Given the description of an element on the screen output the (x, y) to click on. 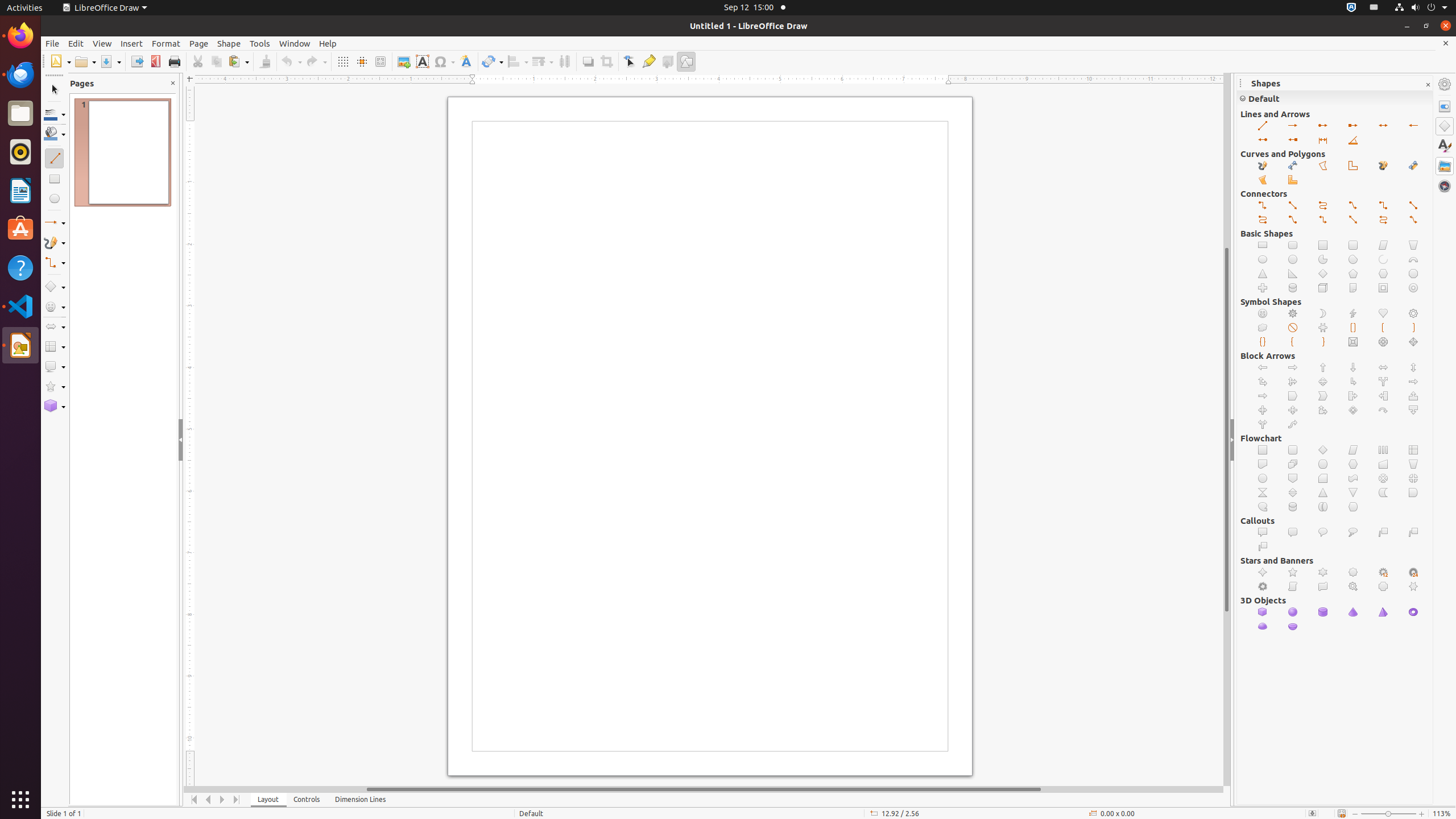
LibreOffice Draw Element type: menu (103, 7)
Navigator Element type: radio-button (1444, 185)
Curved Connector Element type: list-item (1262, 219)
Circular Arrow Element type: list-item (1383, 410)
Connector Ends with Arrow Element type: list-item (1262, 205)
